Given the description of an element on the screen output the (x, y) to click on. 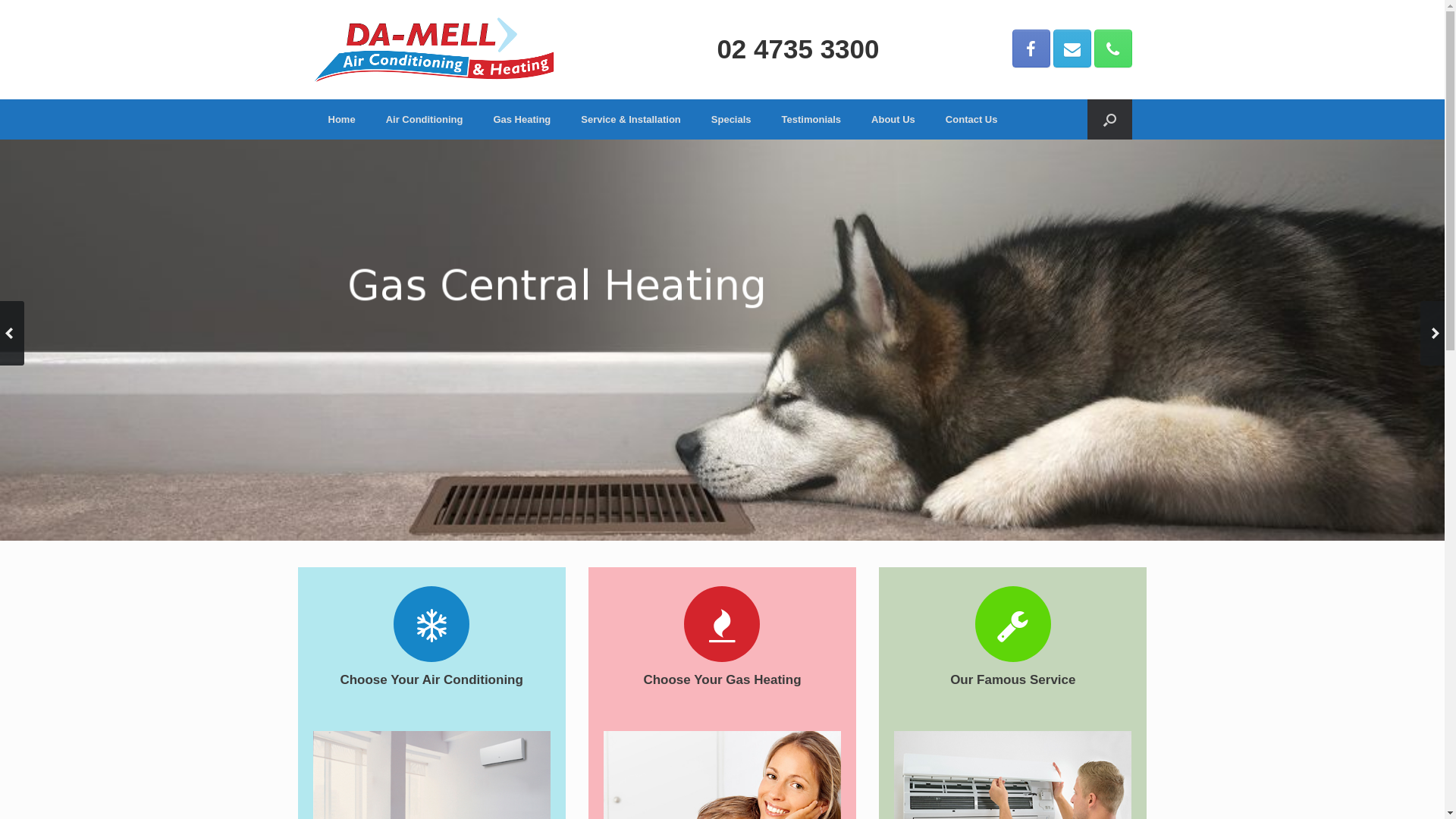
Gas Heating Element type: text (521, 119)
Specials Element type: text (731, 119)
Damell Email Element type: hover (1071, 48)
Damell Phone Element type: hover (1112, 48)
Damell Facebook Element type: hover (1030, 48)
About Us Element type: text (893, 119)
Home Element type: text (341, 119)
Testimonials Element type: text (811, 119)
Air Conditioning Element type: text (424, 119)
> Element type: text (1432, 333)
Contact Us Element type: text (971, 119)
< Element type: text (12, 333)
Damell Element type: hover (433, 49)
Service & Installation Element type: text (630, 119)
